Given the description of an element on the screen output the (x, y) to click on. 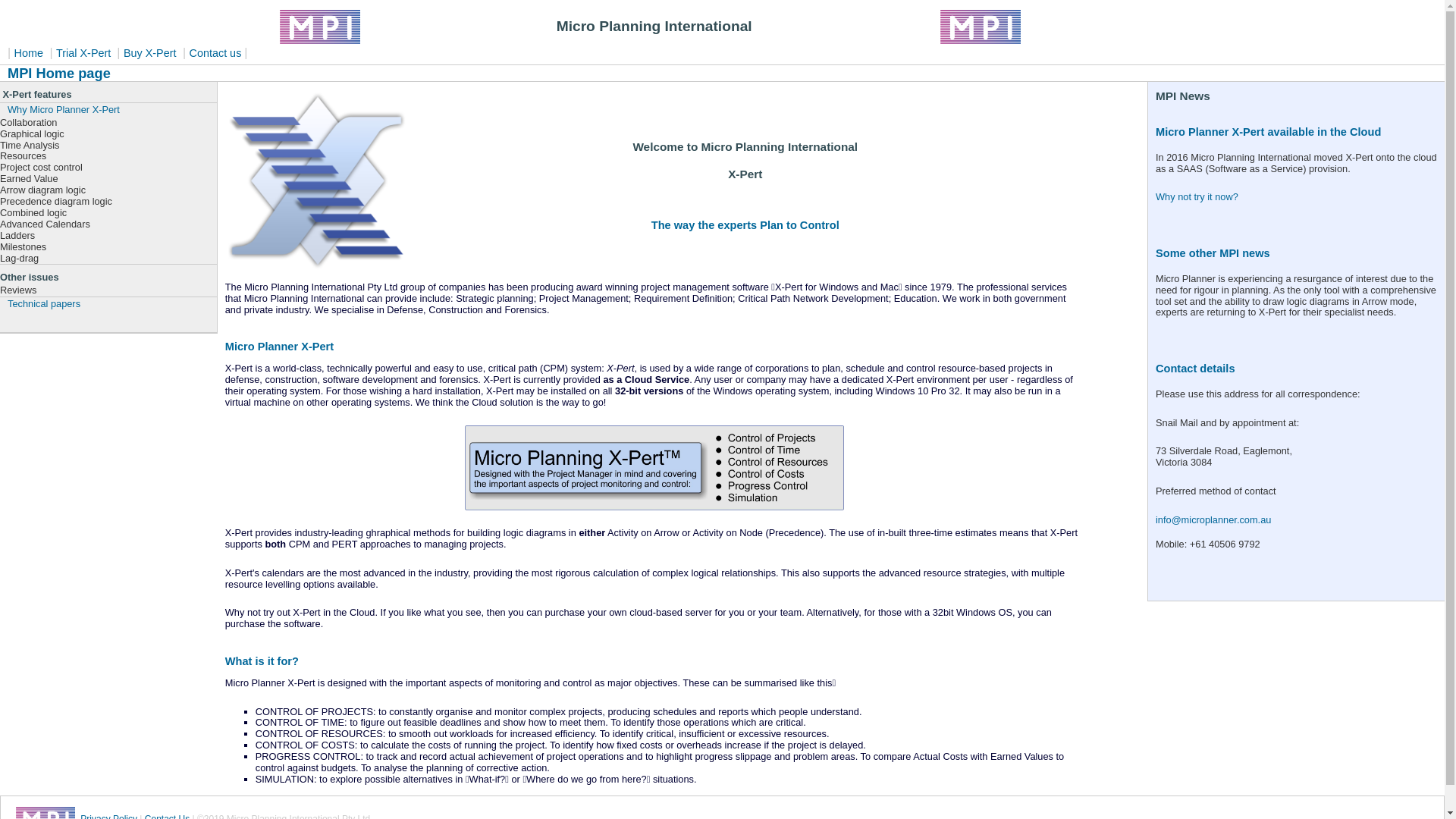
Trial X-Pert Element type: text (86, 53)
Buy X-Pert Element type: text (151, 53)
Home Element type: text (30, 53)
Technical papers Element type: text (108, 303)
Why Micro Planner X-Pert Element type: text (108, 109)
Contact us Element type: text (216, 53)
info@microplanner.com.au Element type: text (1212, 519)
Why not try it now? Element type: text (1196, 196)
